Given the description of an element on the screen output the (x, y) to click on. 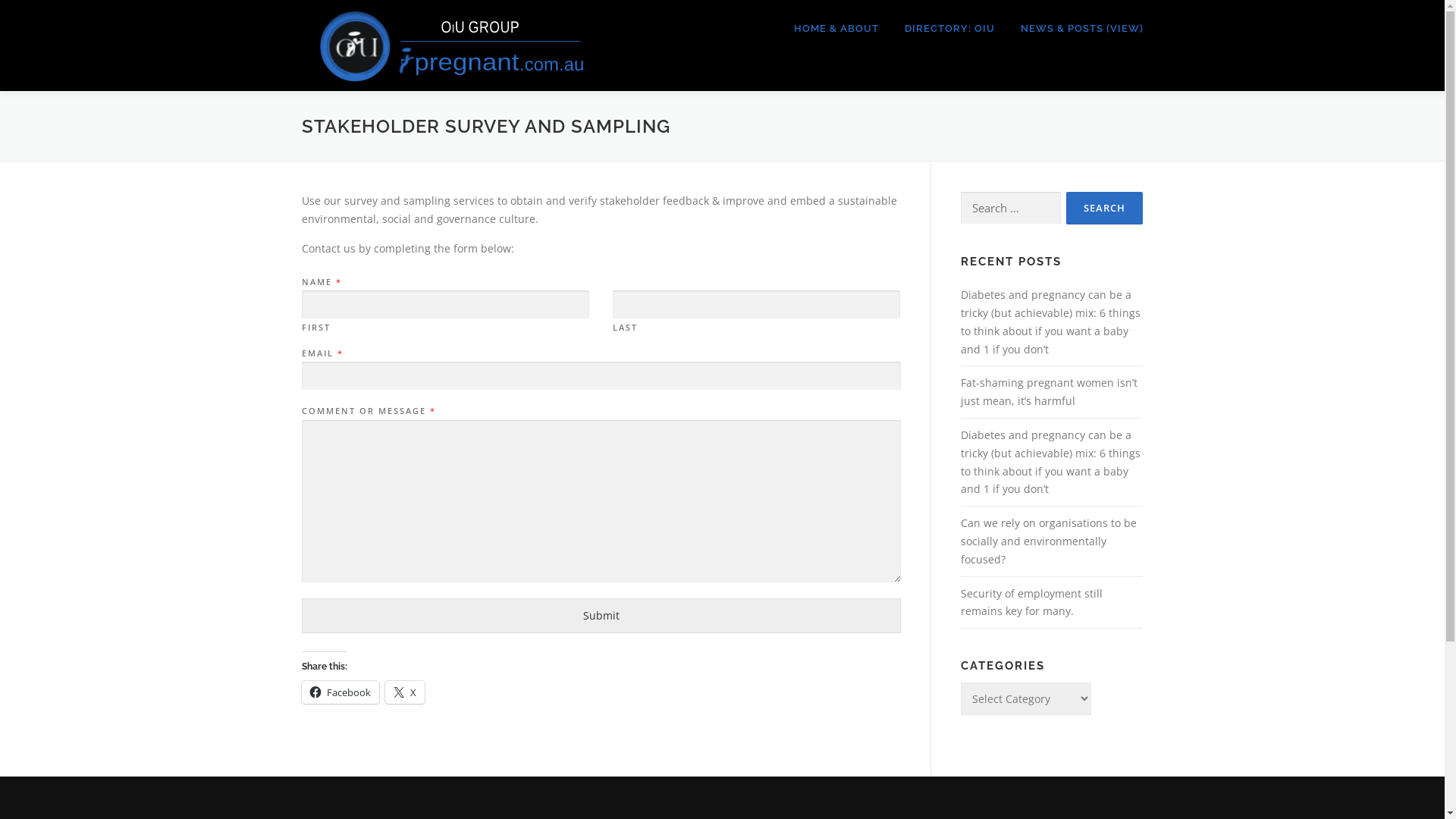
HOME & ABOUT Element type: text (836, 28)
Facebook Element type: text (340, 691)
Search Element type: text (1104, 207)
DIRECTORY: OIU Element type: text (949, 28)
X Element type: text (404, 691)
Submit Element type: text (600, 615)
Security of employment still remains key for many. Element type: text (1030, 602)
NEWS & POSTS (VIEW) Element type: text (1074, 28)
